Given the description of an element on the screen output the (x, y) to click on. 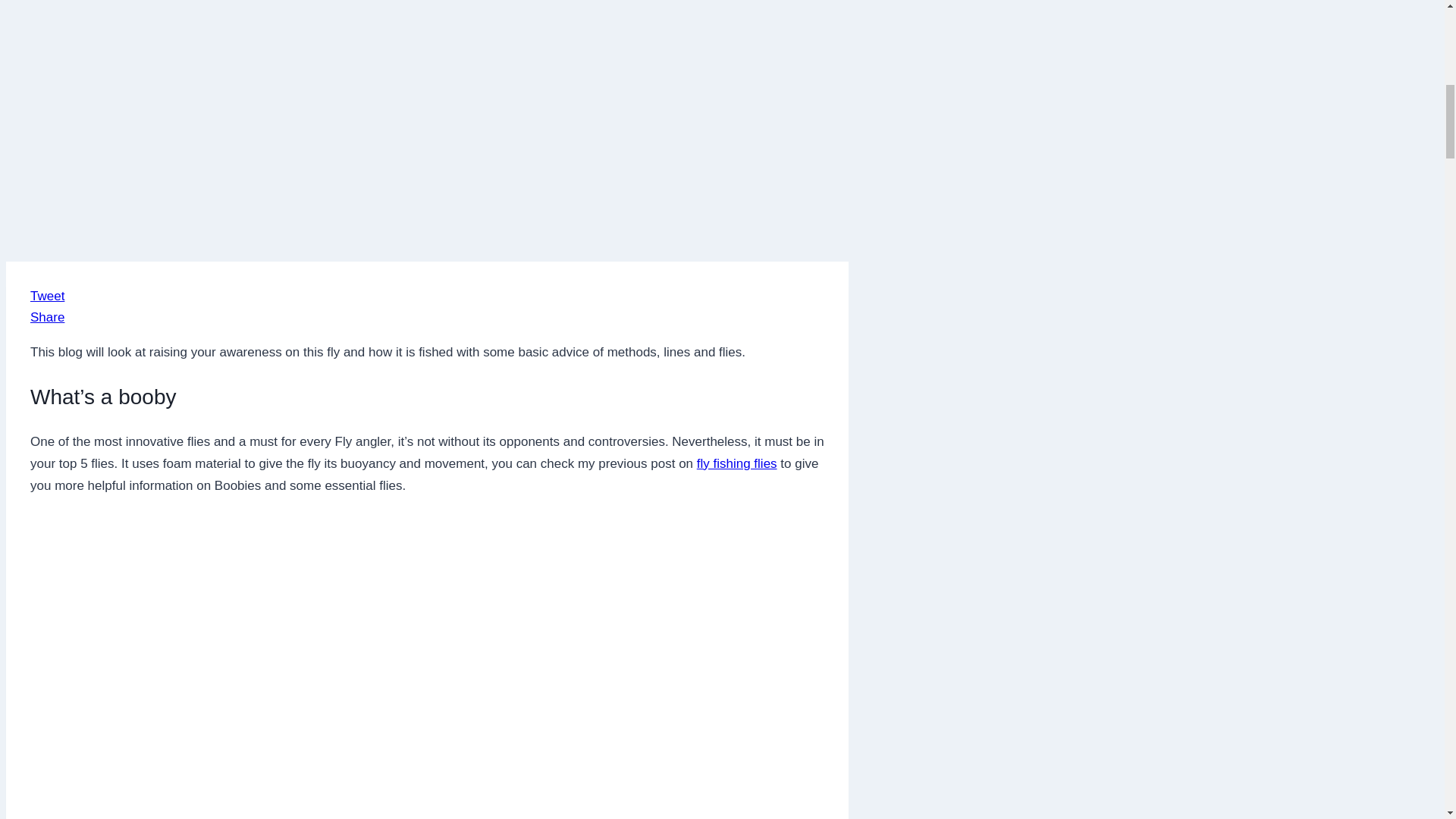
Tweet (47, 296)
fly fishing flies (737, 463)
Share (47, 317)
